Given the description of an element on the screen output the (x, y) to click on. 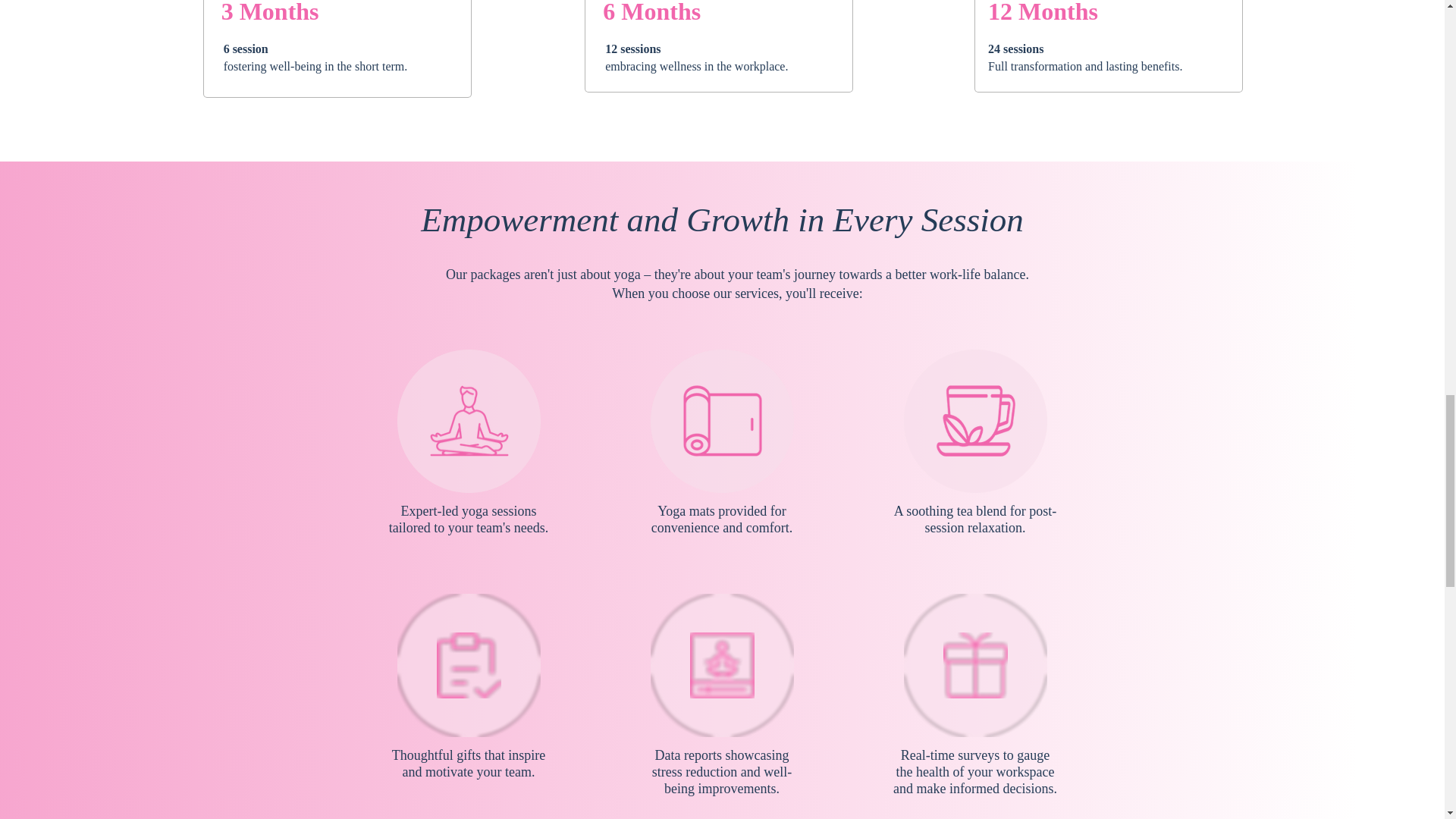
Yoga-Icons.png (468, 665)
Yoga-Icons.png (975, 420)
Yoga-Icons.png (721, 420)
Yoga-Icons.png (468, 420)
Yoga-Icons.png (722, 665)
Yoga-Icons.png (975, 665)
